Given the description of an element on the screen output the (x, y) to click on. 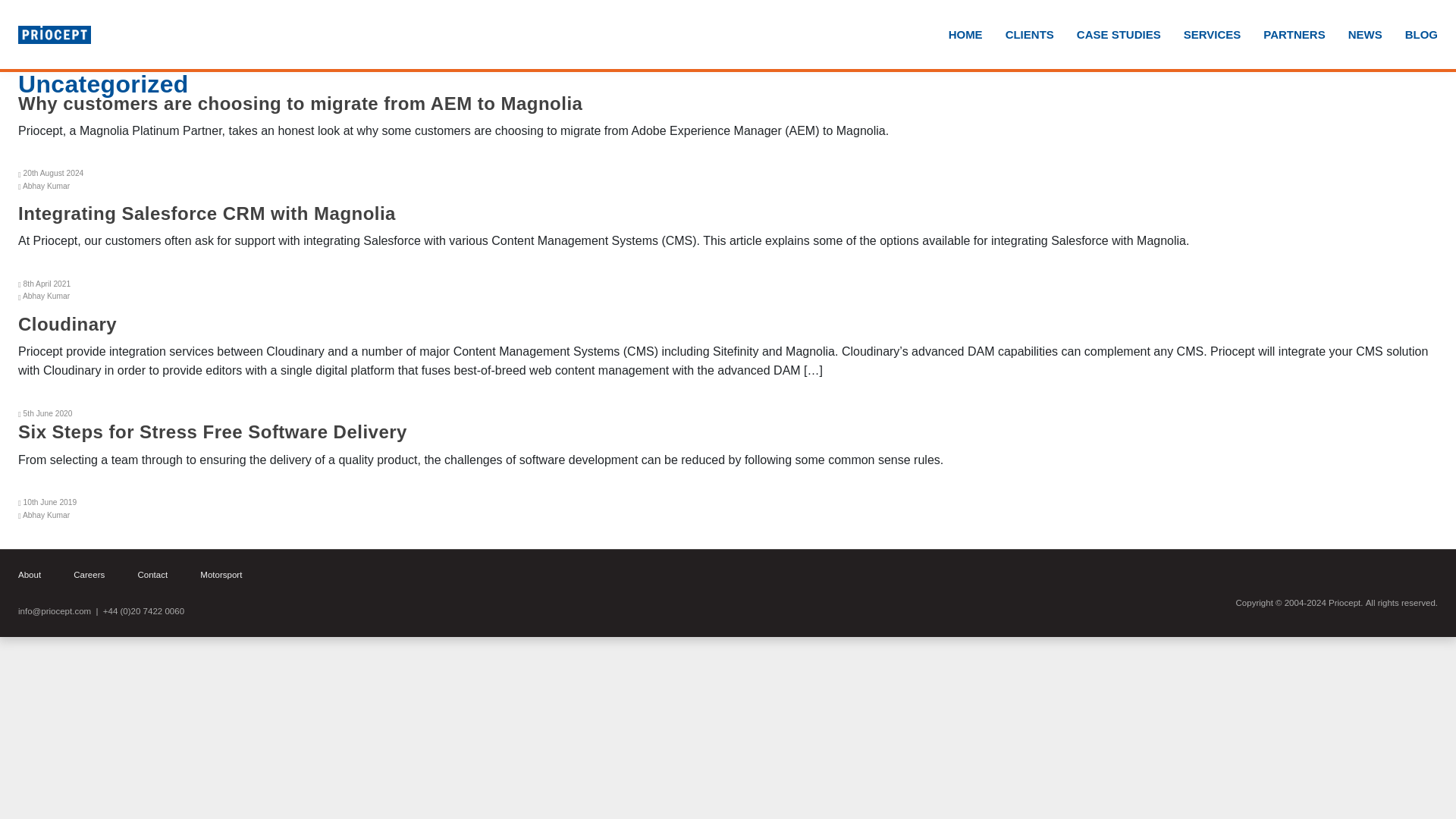
BLOG (1409, 34)
Why customers are choosing to migrate from AEM to Magnolia (299, 103)
CLIENTS (1018, 34)
Contact (151, 574)
PARTNERS (1282, 34)
About (28, 574)
NEWS (1352, 34)
Six Steps for Stress Free Software Delivery (212, 431)
Motorsport (220, 574)
Careers (89, 574)
